Given the description of an element on the screen output the (x, y) to click on. 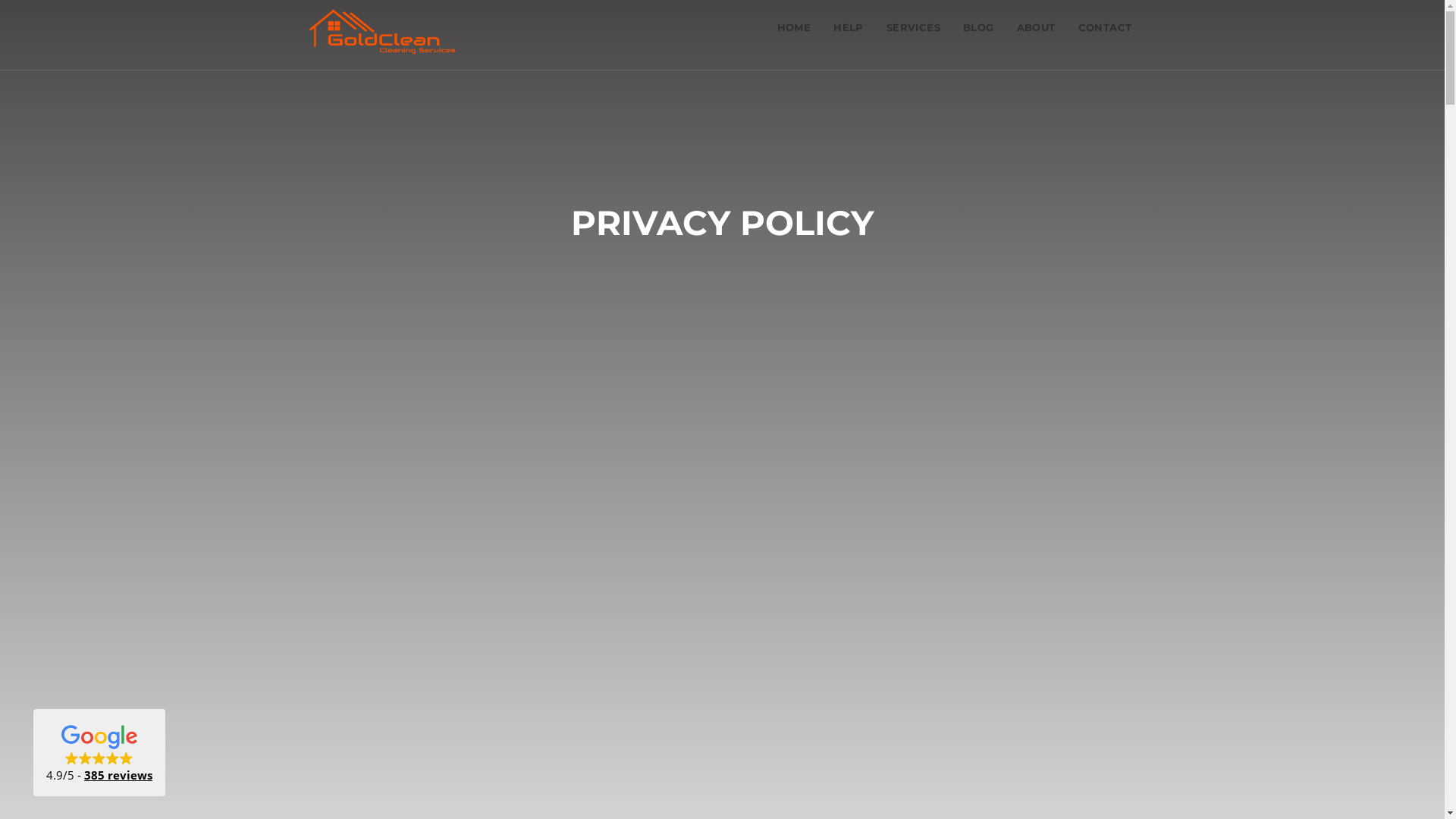
ABOUT Element type: text (1035, 27)
CONTACT Element type: text (1105, 27)
BLOG Element type: text (978, 27)
HELP Element type: text (848, 27)
SERVICES Element type: text (913, 27)
4.9/5 - 385 reviews Element type: text (99, 752)
HOME Element type: text (794, 27)
